Given the description of an element on the screen output the (x, y) to click on. 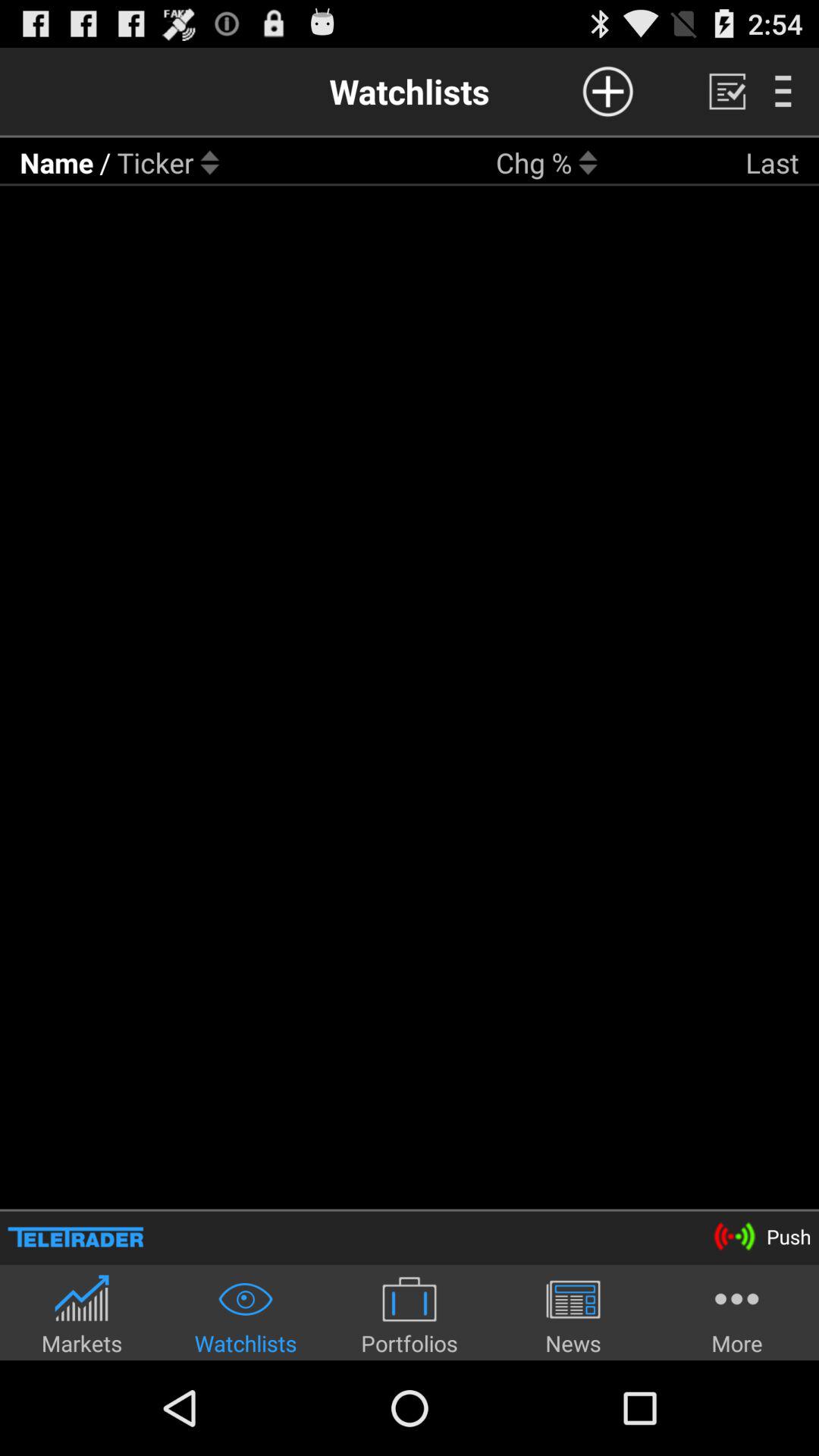
press the portfolios (409, 1314)
